Given the description of an element on the screen output the (x, y) to click on. 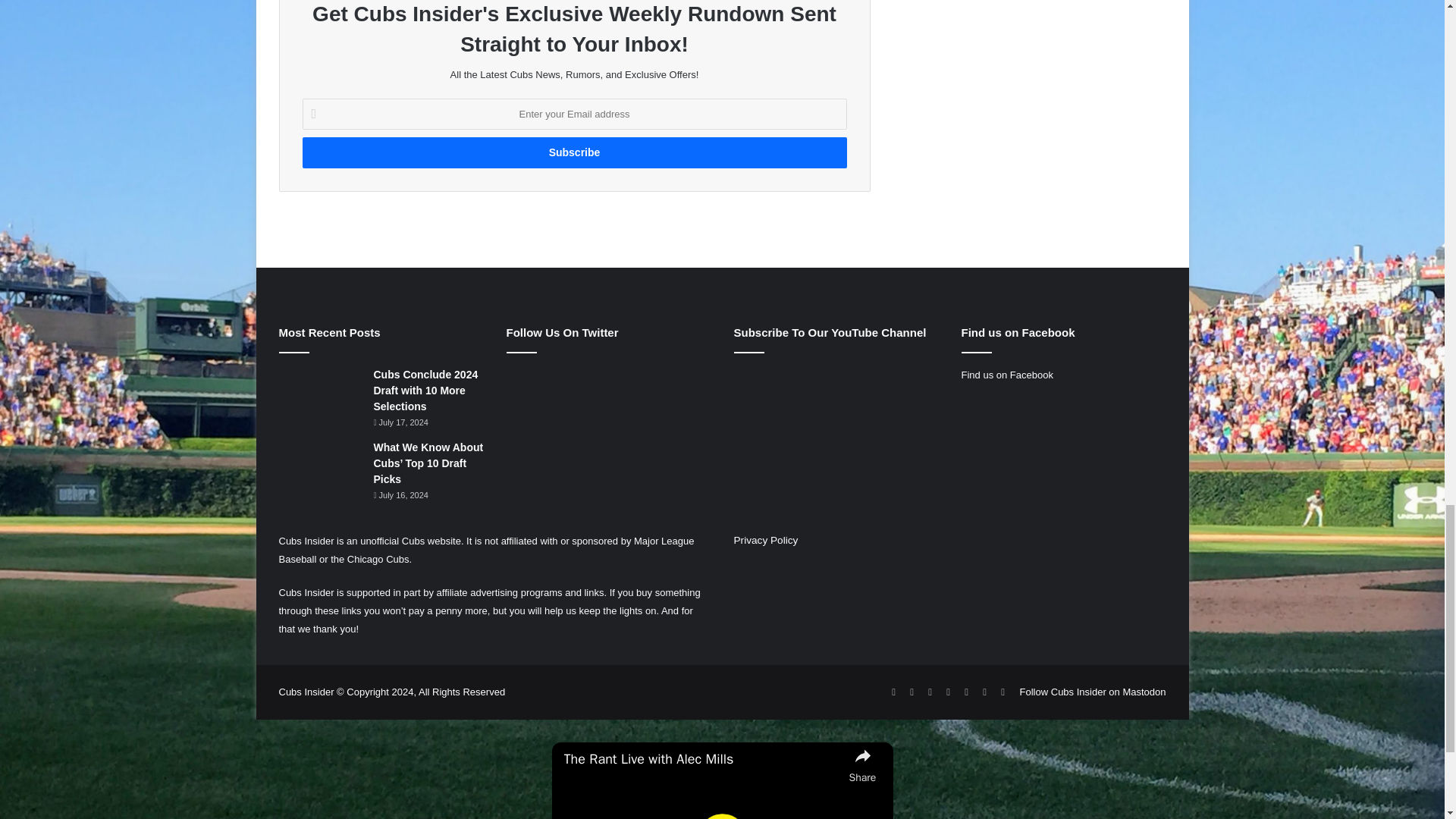
Subscribe (573, 152)
